Given the description of an element on the screen output the (x, y) to click on. 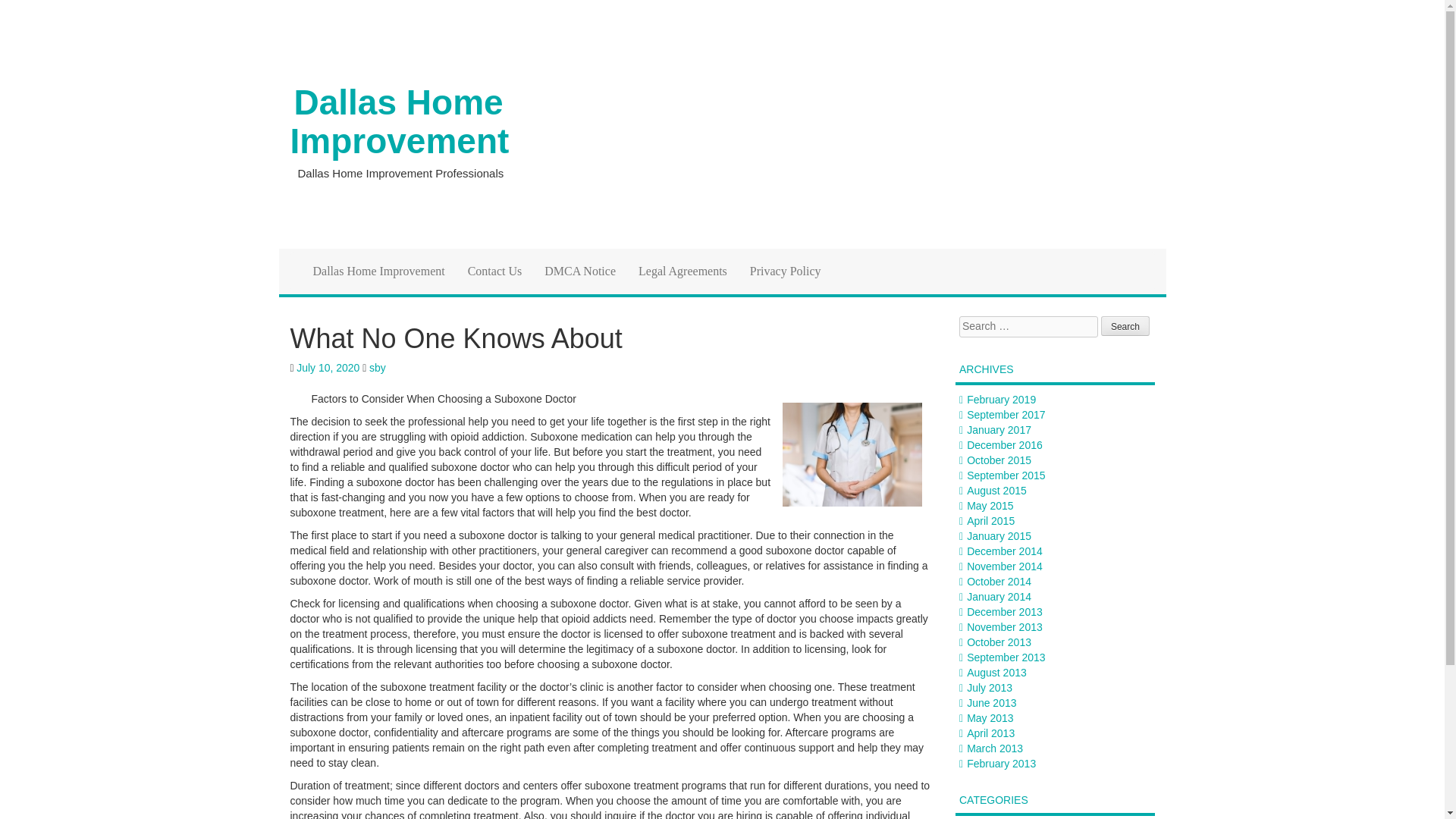
November 2013 (1004, 626)
July 10, 2020 (328, 367)
April 2015 (990, 521)
October 2014 (998, 581)
sby (377, 367)
Dallas Home Improvement (379, 271)
July 2013 (988, 687)
Search (1125, 325)
September 2013 (1005, 657)
November 2014 (1004, 566)
